Given the description of an element on the screen output the (x, y) to click on. 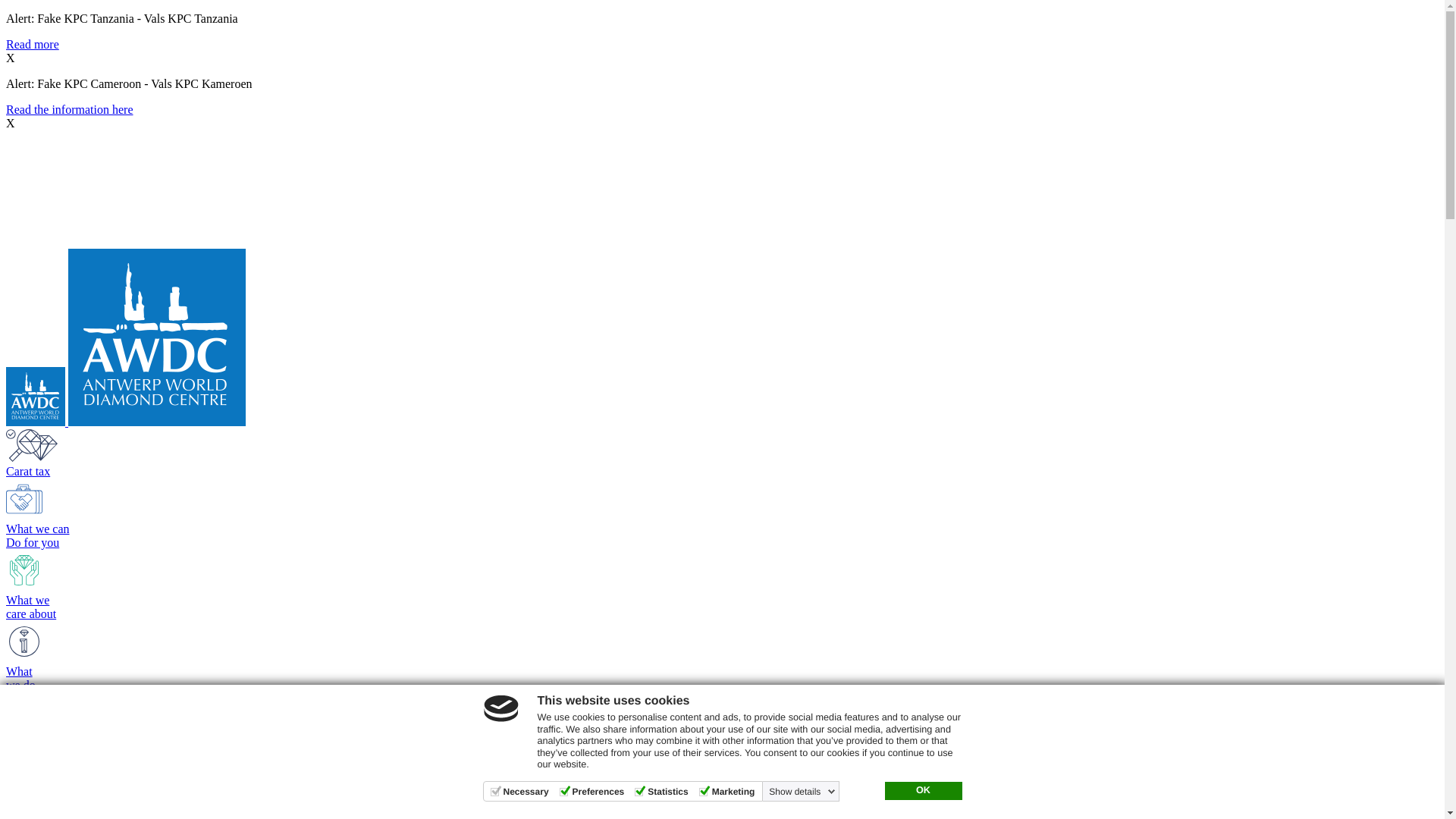
Contact
us Element type: text (575, 705)
OK Element type: text (922, 790)
Antwerp World Diamond Centre Element type: hover (125, 421)
Carat tax Element type: text (575, 453)
What we can
Do for you Element type: text (575, 513)
Show details Element type: text (801, 791)
Read the information here Element type: text (69, 109)
Read more Element type: text (32, 43)
What we
care about Element type: text (575, 585)
What
we do Element type: text (575, 656)
